Given the description of an element on the screen output the (x, y) to click on. 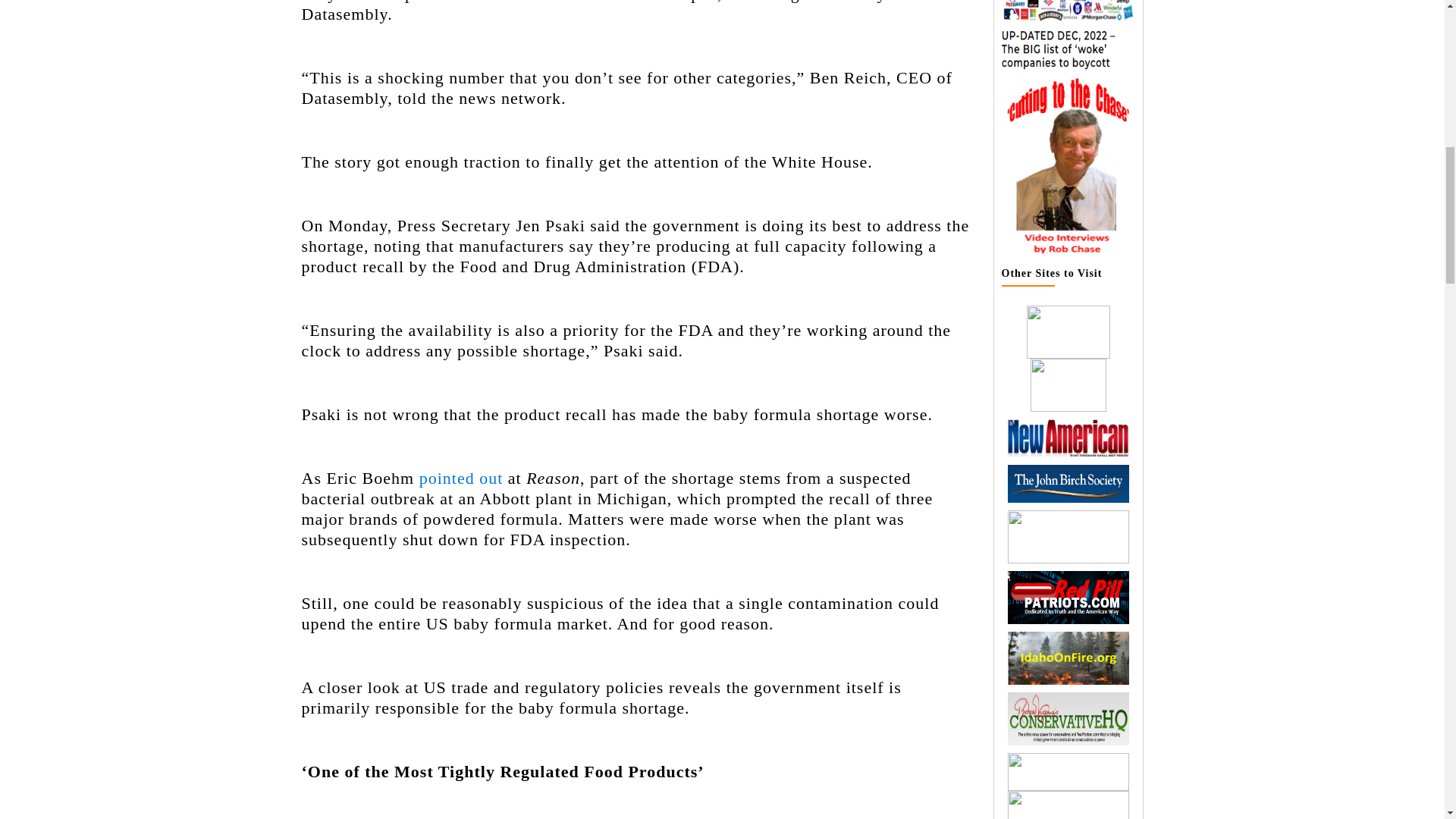
pointed out (461, 477)
